Given the description of an element on the screen output the (x, y) to click on. 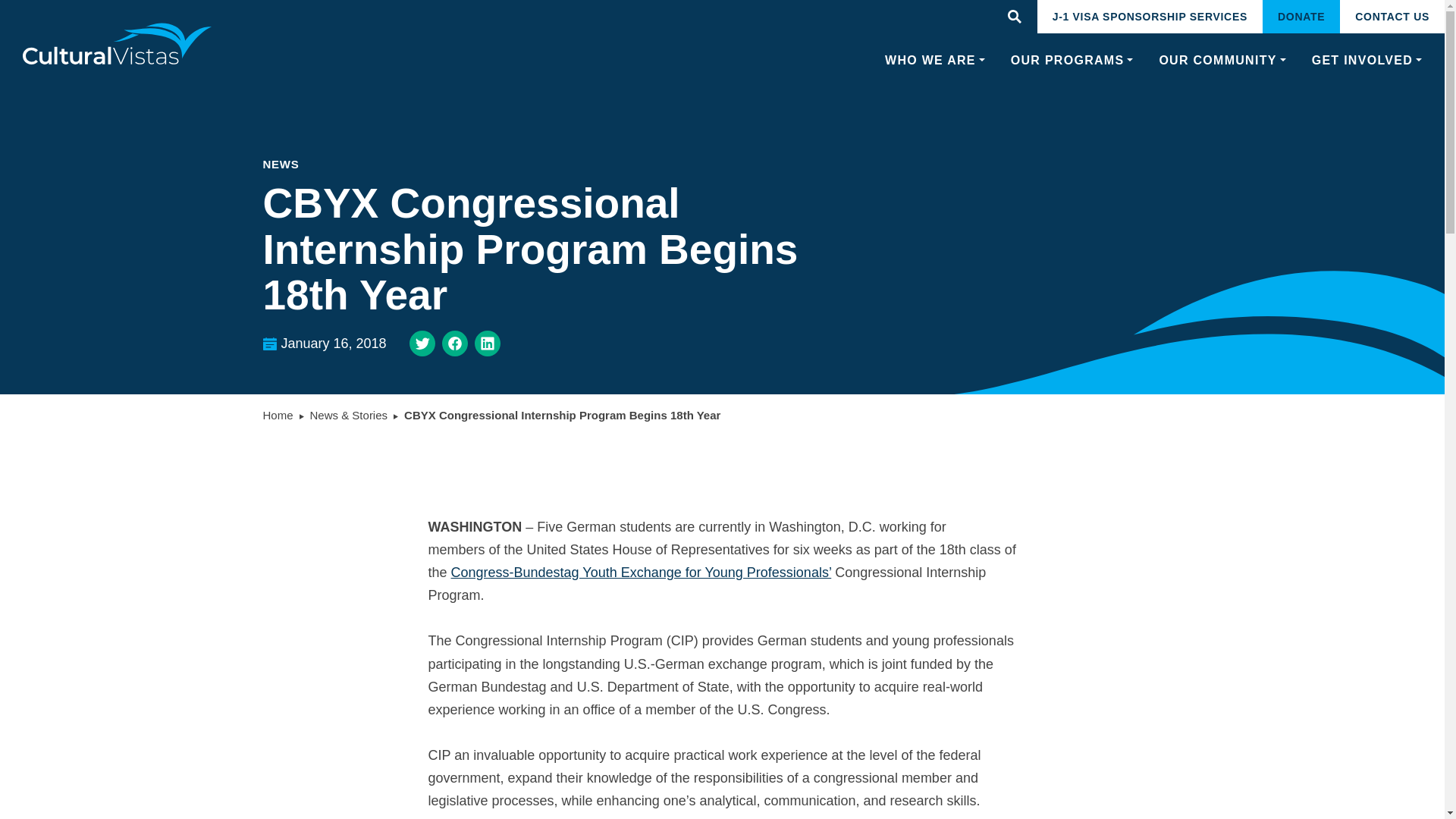
DONATE (1300, 16)
J-1 VISA SPONSORSHIP SERVICES (1149, 16)
Home (277, 415)
homepage (117, 43)
GET INVOLVED (1366, 60)
OUR COMMUNITY (1221, 60)
WHO WE ARE (935, 60)
Site Search (1013, 16)
OUR PROGRAMS (1072, 60)
